Given the description of an element on the screen output the (x, y) to click on. 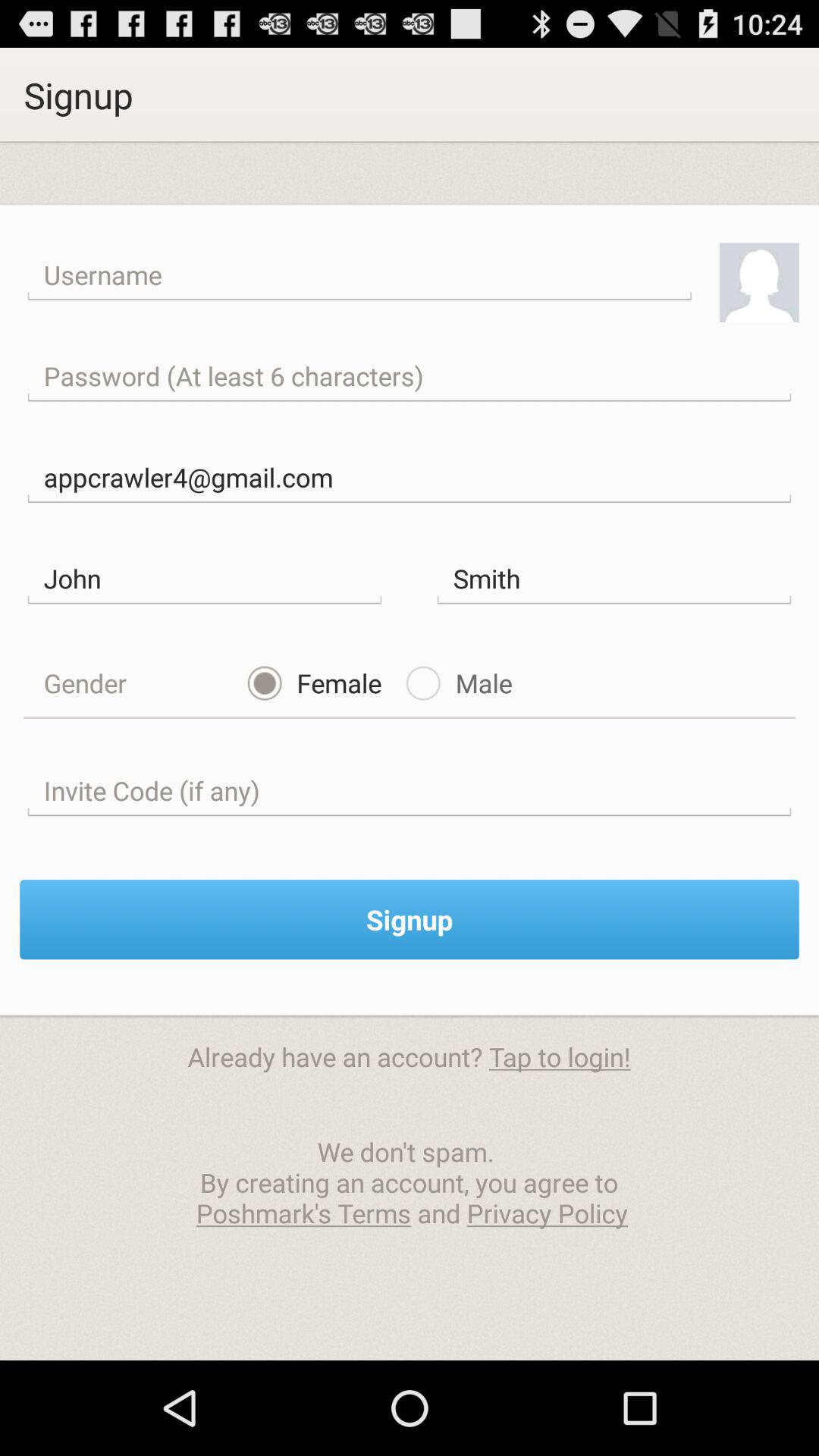
profile picture (759, 282)
